Given the description of an element on the screen output the (x, y) to click on. 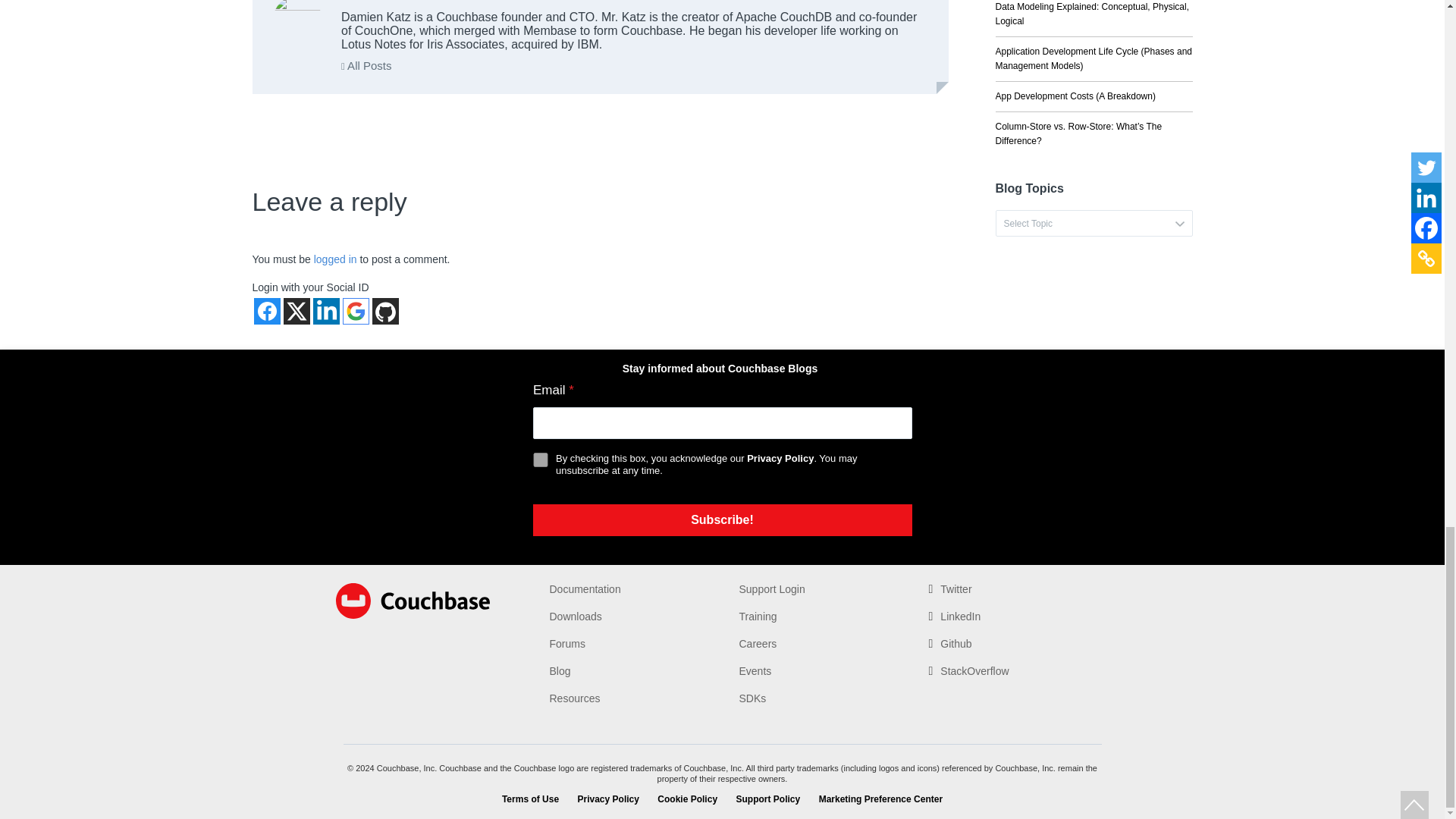
Login with X (296, 311)
1 (539, 459)
Login with Google (355, 311)
Email (721, 422)
Login with Facebook (266, 311)
Login with Linkedin (326, 311)
Login with Github (384, 311)
Subscribe! (721, 520)
